Given the description of an element on the screen output the (x, y) to click on. 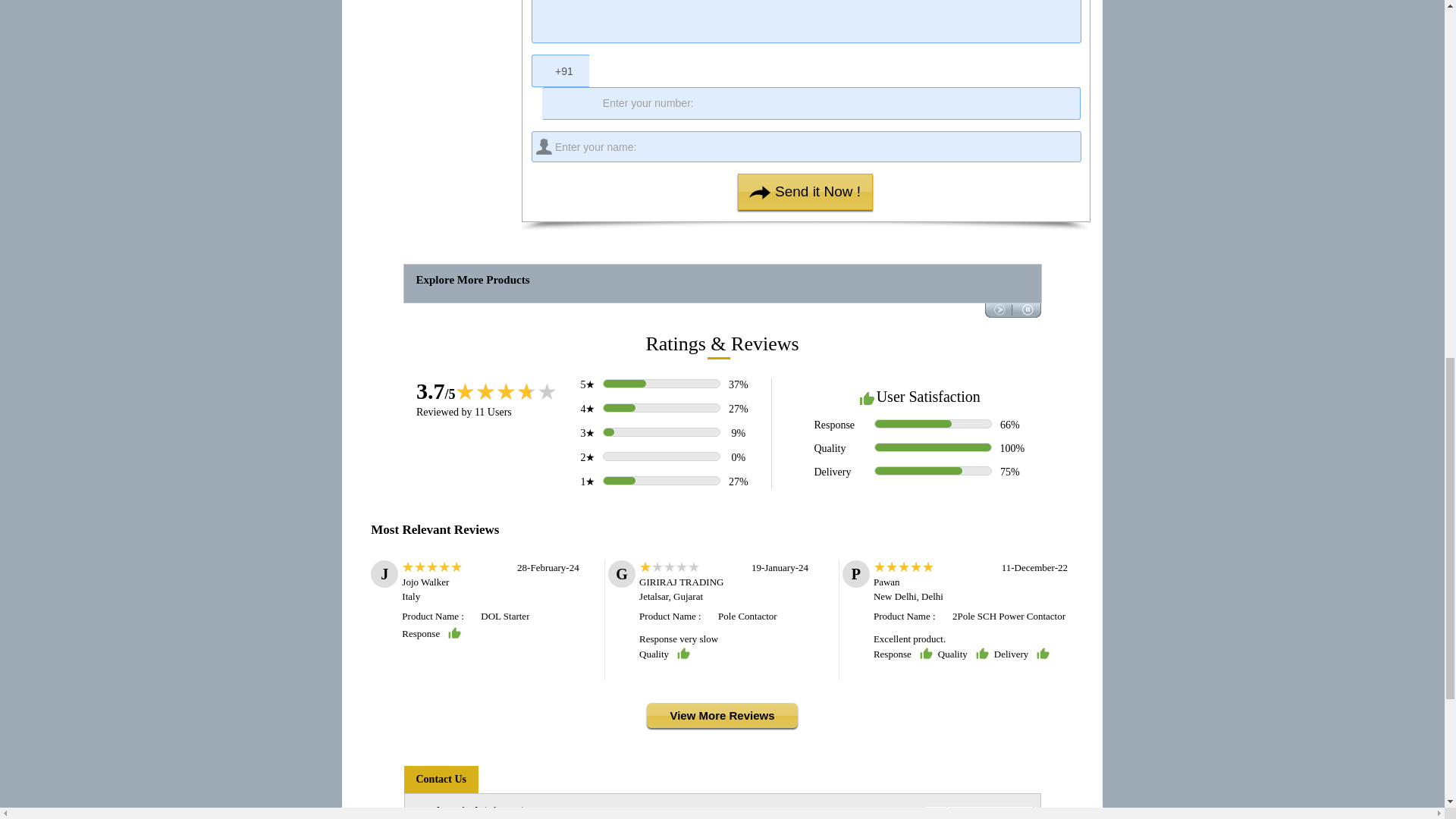
Send it Now ! (805, 191)
Enter your number: (810, 102)
Enter your name: (806, 146)
Send it Now ! (805, 191)
3.7 out of 5 Votes (435, 390)
